Given the description of an element on the screen output the (x, y) to click on. 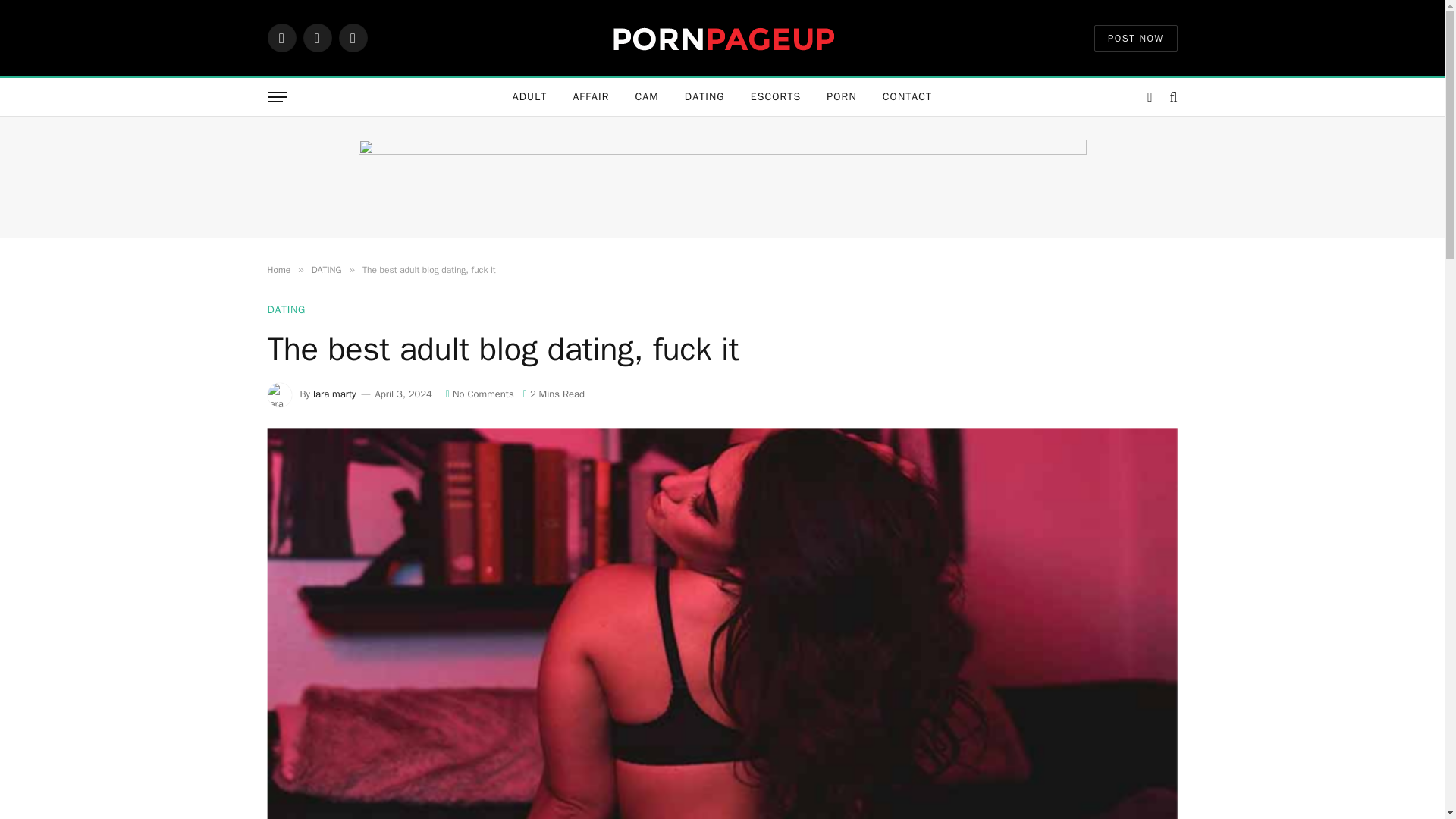
DATING (704, 96)
No Comments (479, 393)
Switch to Dark Design - easier on eyes. (1149, 97)
PORN (841, 96)
ESCORTS (775, 96)
lara marty (334, 393)
CONTACT (906, 96)
DATING (326, 269)
Posts by lara marty (334, 393)
Facebook (280, 37)
Home (277, 269)
Instagram (351, 37)
CAM (646, 96)
AFFAIR (590, 96)
DATING (285, 309)
